Given the description of an element on the screen output the (x, y) to click on. 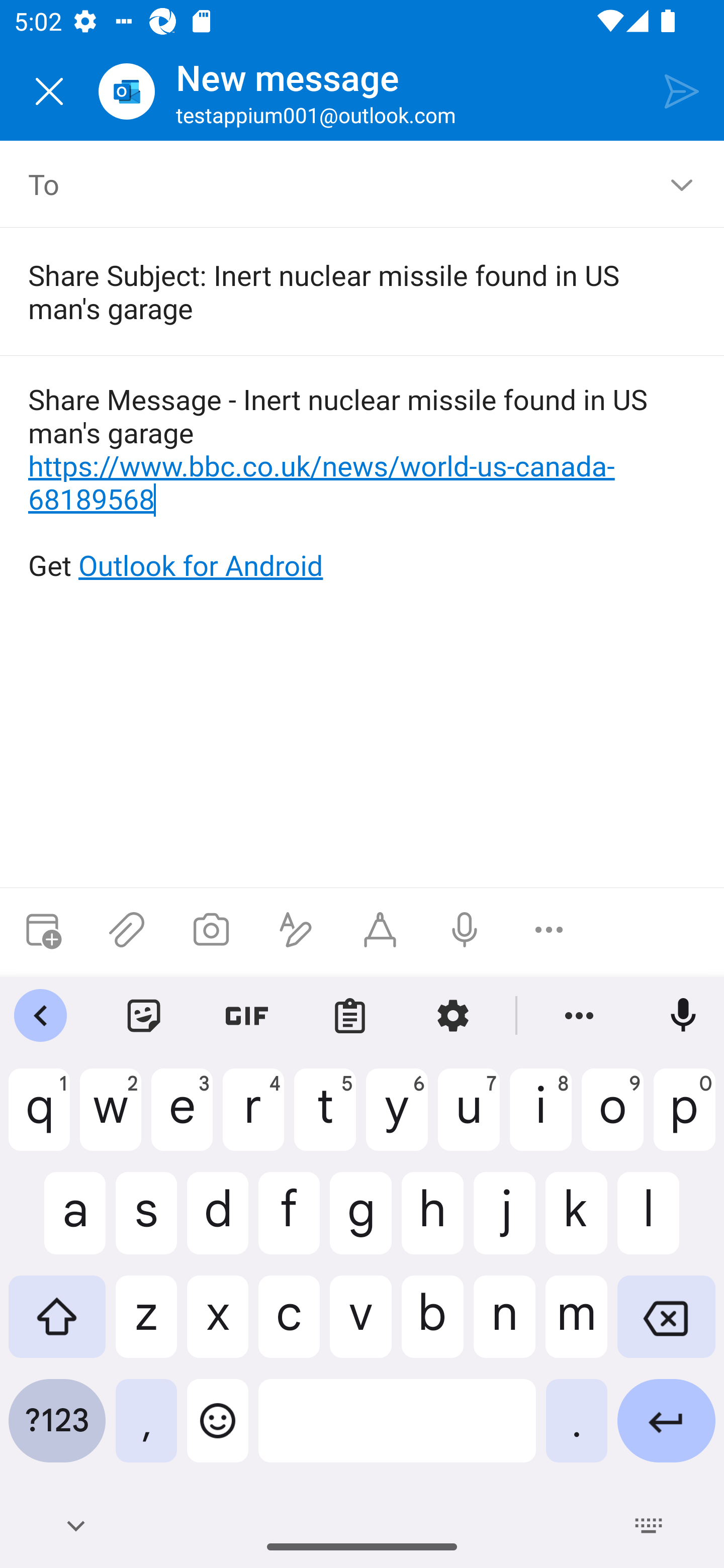
Close (49, 91)
Send (681, 90)
Attach meeting (42, 929)
Attach files (126, 929)
Take a photo (210, 929)
Show formatting options (295, 929)
Start Ink compose (380, 929)
Dictation (464, 929)
More options (548, 929)
